Given the description of an element on the screen output the (x, y) to click on. 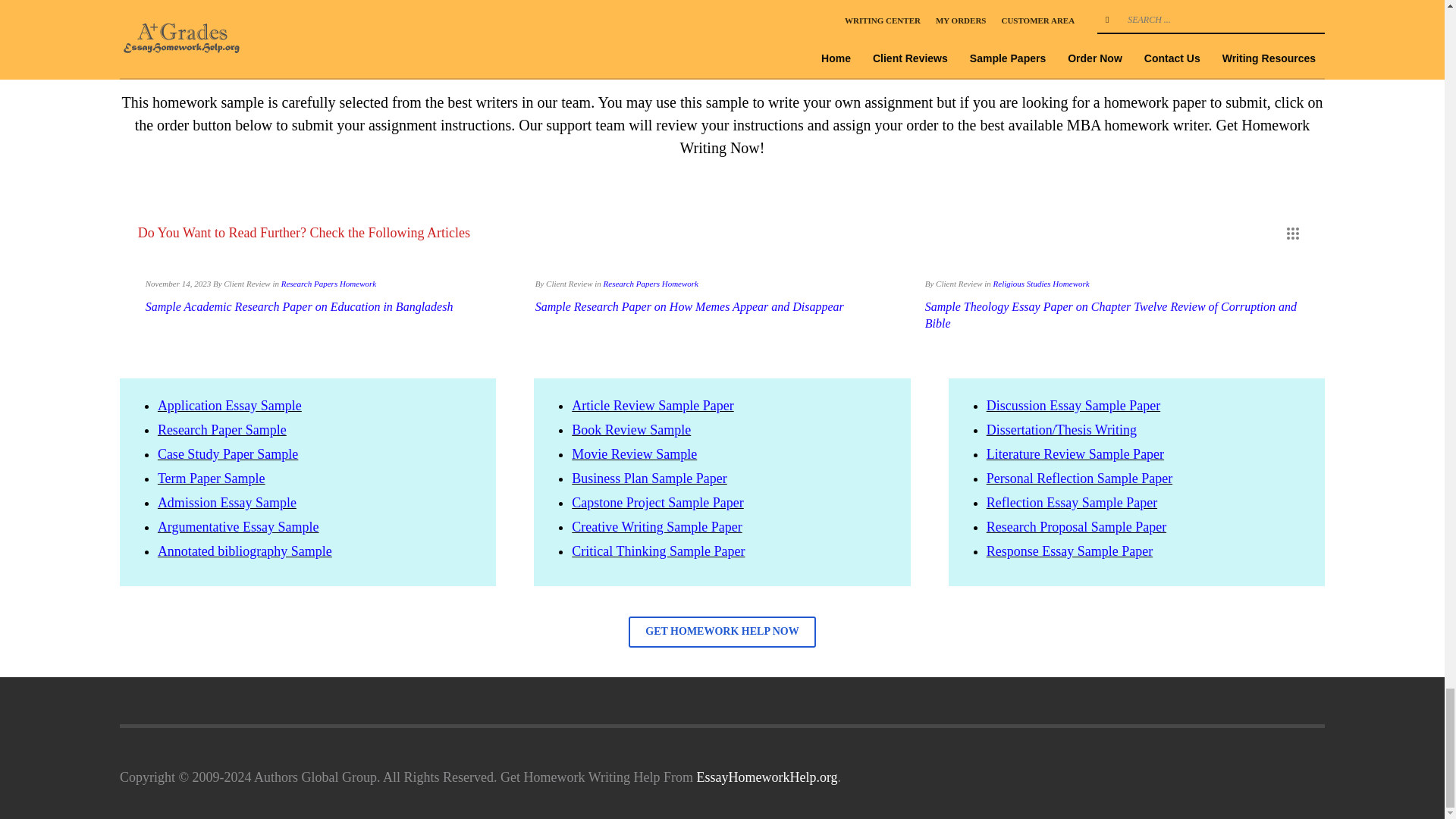
Book Review Sample (631, 429)
Application Essay Sample (229, 405)
Research Paper Sample (221, 429)
Religious Studies Homework (1040, 283)
Admission Essay Sample (227, 502)
Argumentative Essay Sample (237, 526)
Sample Academic Research Paper on Education in Bangladesh (298, 306)
Research Papers Homework (651, 283)
Term Paper Sample (210, 478)
View all posts in Research Papers Homework (651, 283)
Sample Research Paper on How Memes Appear and Disappear (689, 306)
Annotated bibliography Sample (244, 550)
Case Study Paper Sample (227, 453)
Research Papers Homework (328, 283)
